Given the description of an element on the screen output the (x, y) to click on. 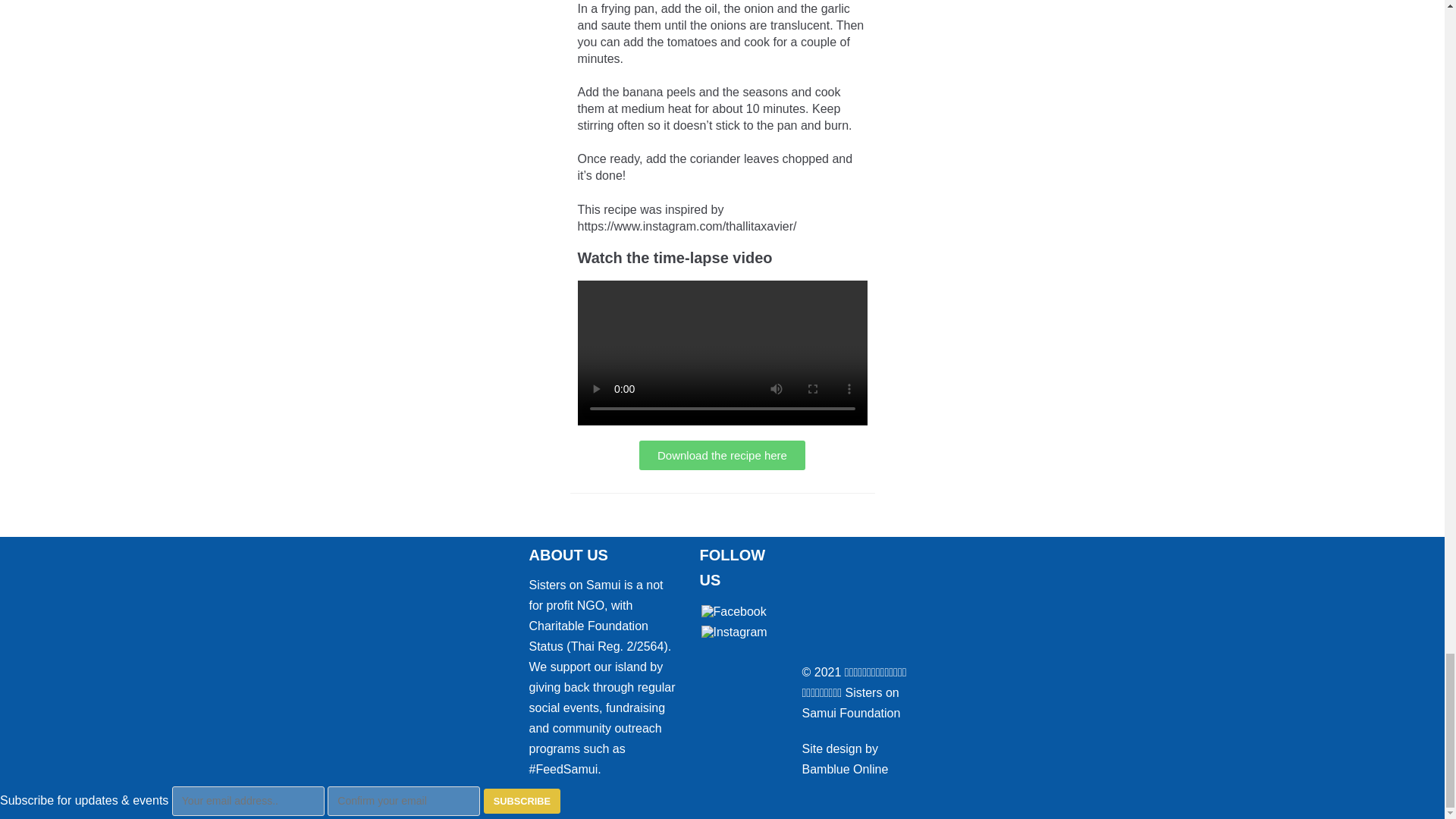
Instagram (733, 631)
Instagram (733, 632)
Subscribe (521, 801)
Facebook (732, 612)
Facebook (732, 611)
